Given the description of an element on the screen output the (x, y) to click on. 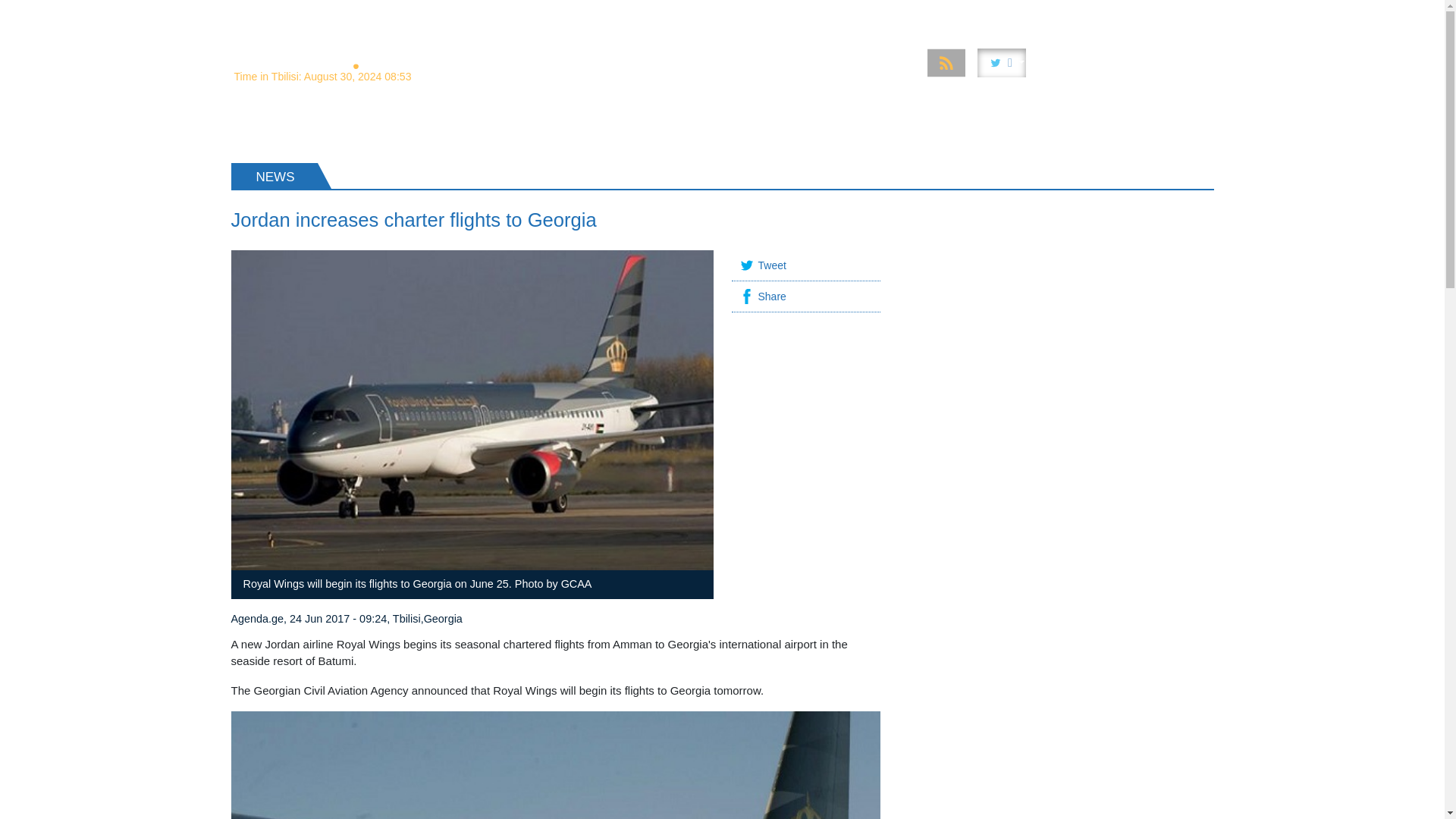
Infographic (990, 14)
Blogs (1187, 14)
NEWS (262, 126)
Home (512, 14)
In Pictures (911, 14)
Government (751, 14)
Special Reports (656, 14)
Analysis (571, 14)
Life (1050, 14)
Pressscanner (1116, 14)
